Given the description of an element on the screen output the (x, y) to click on. 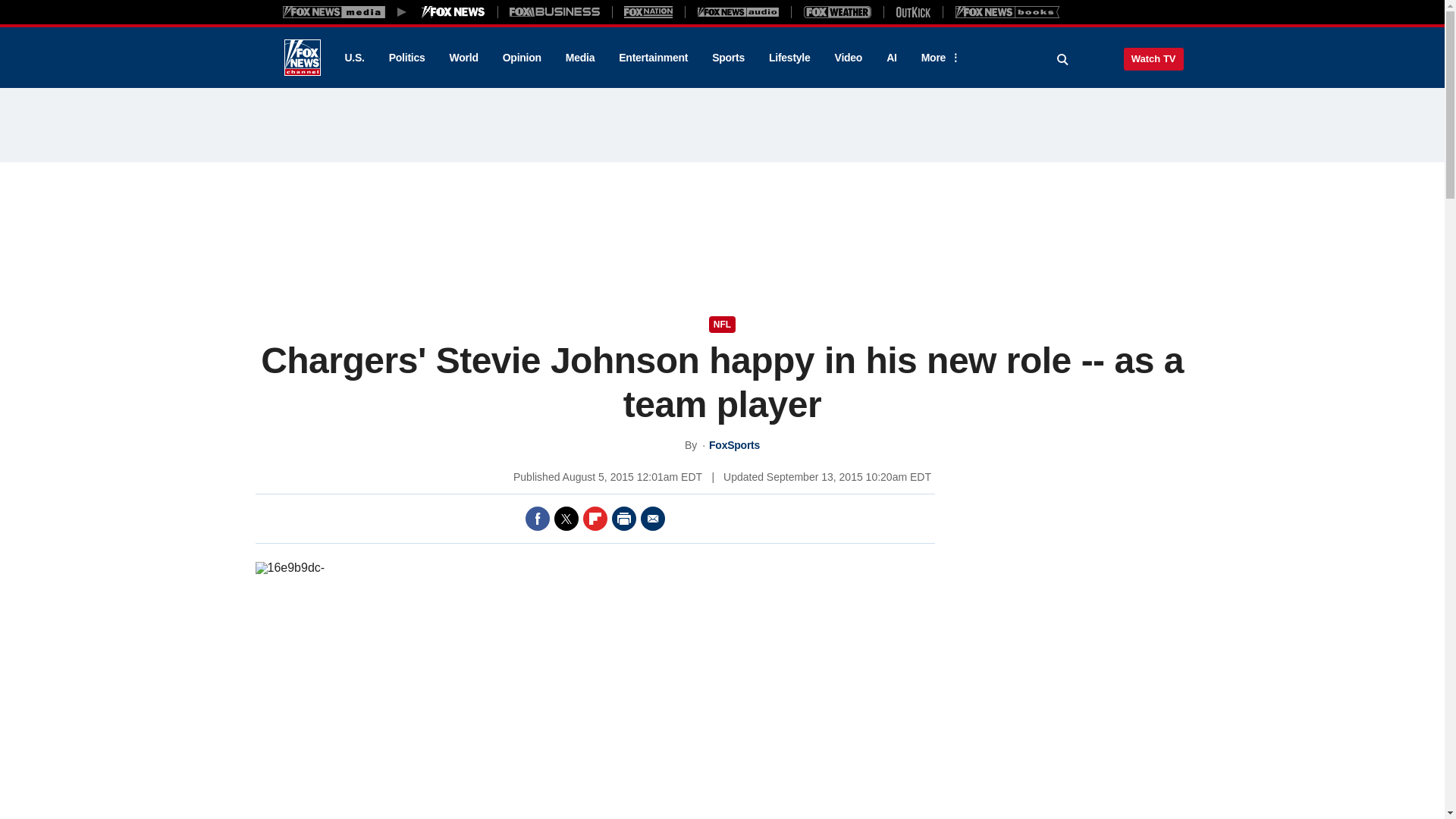
Outkick (912, 11)
Media (580, 57)
Watch TV (1153, 58)
Opinion (521, 57)
Fox News Audio (737, 11)
Video (848, 57)
Lifestyle (789, 57)
Politics (407, 57)
Books (1007, 11)
Sports (728, 57)
